Given the description of an element on the screen output the (x, y) to click on. 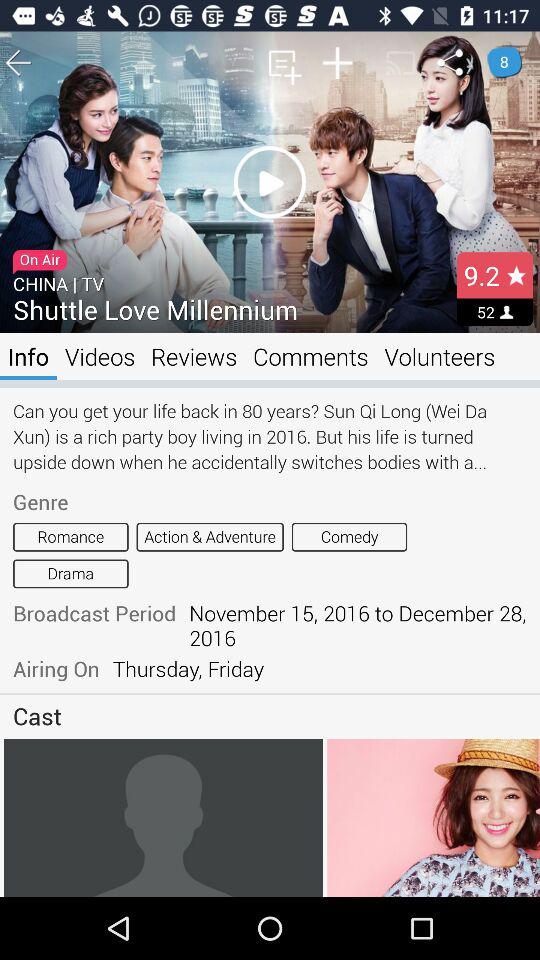
jump to romance icon (70, 536)
